Given the description of an element on the screen output the (x, y) to click on. 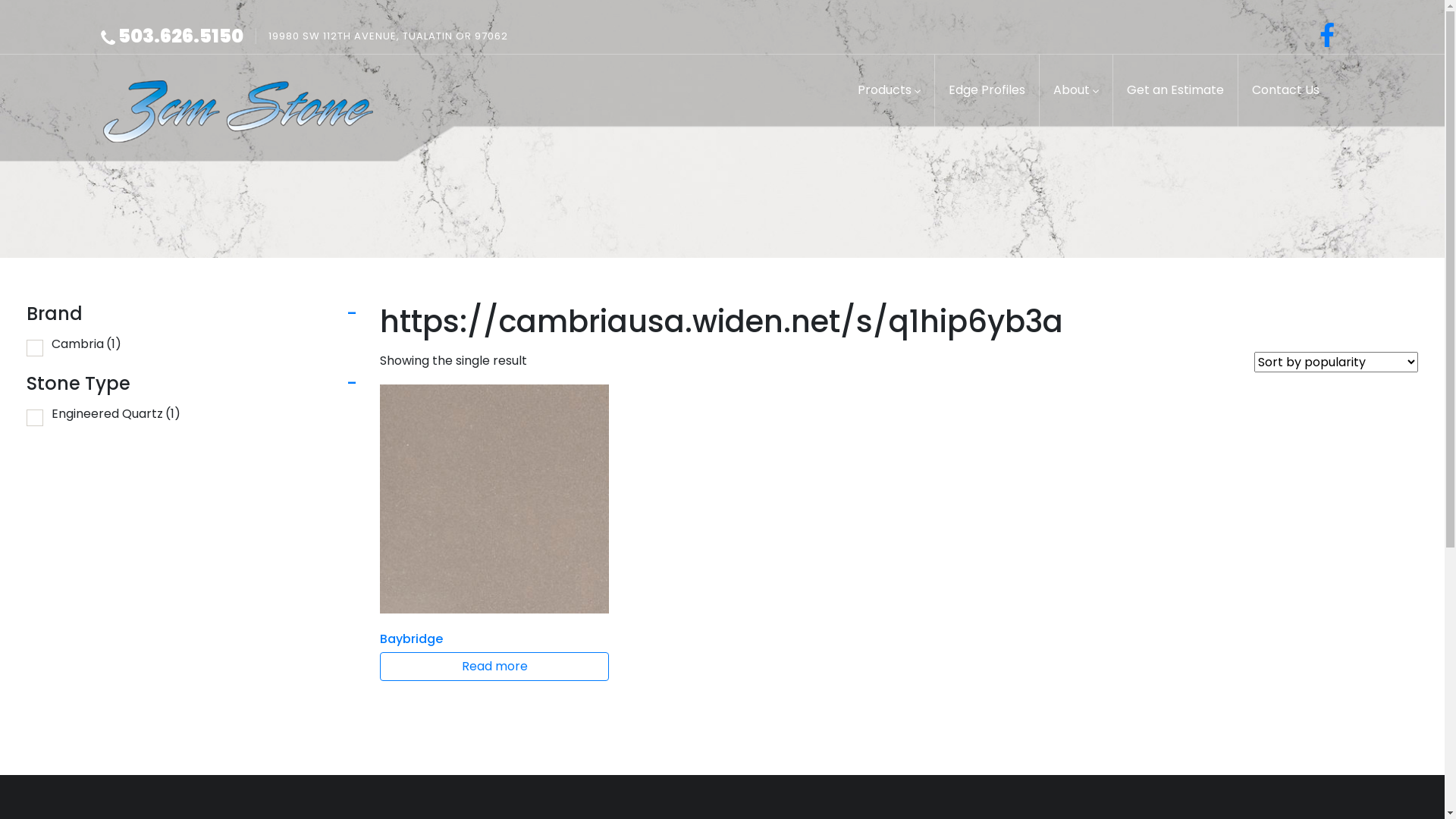
About Element type: text (1075, 89)
- Element type: text (351, 384)
Edge Profiles Element type: text (986, 89)
Contact Us Element type: text (1285, 89)
Read more Element type: text (493, 666)
503.626.5150 Element type: text (171, 35)
Baybridge Element type: text (493, 518)
Get an Estimate Element type: text (1175, 89)
- Element type: text (351, 314)
Products Element type: text (888, 89)
